Given the description of an element on the screen output the (x, y) to click on. 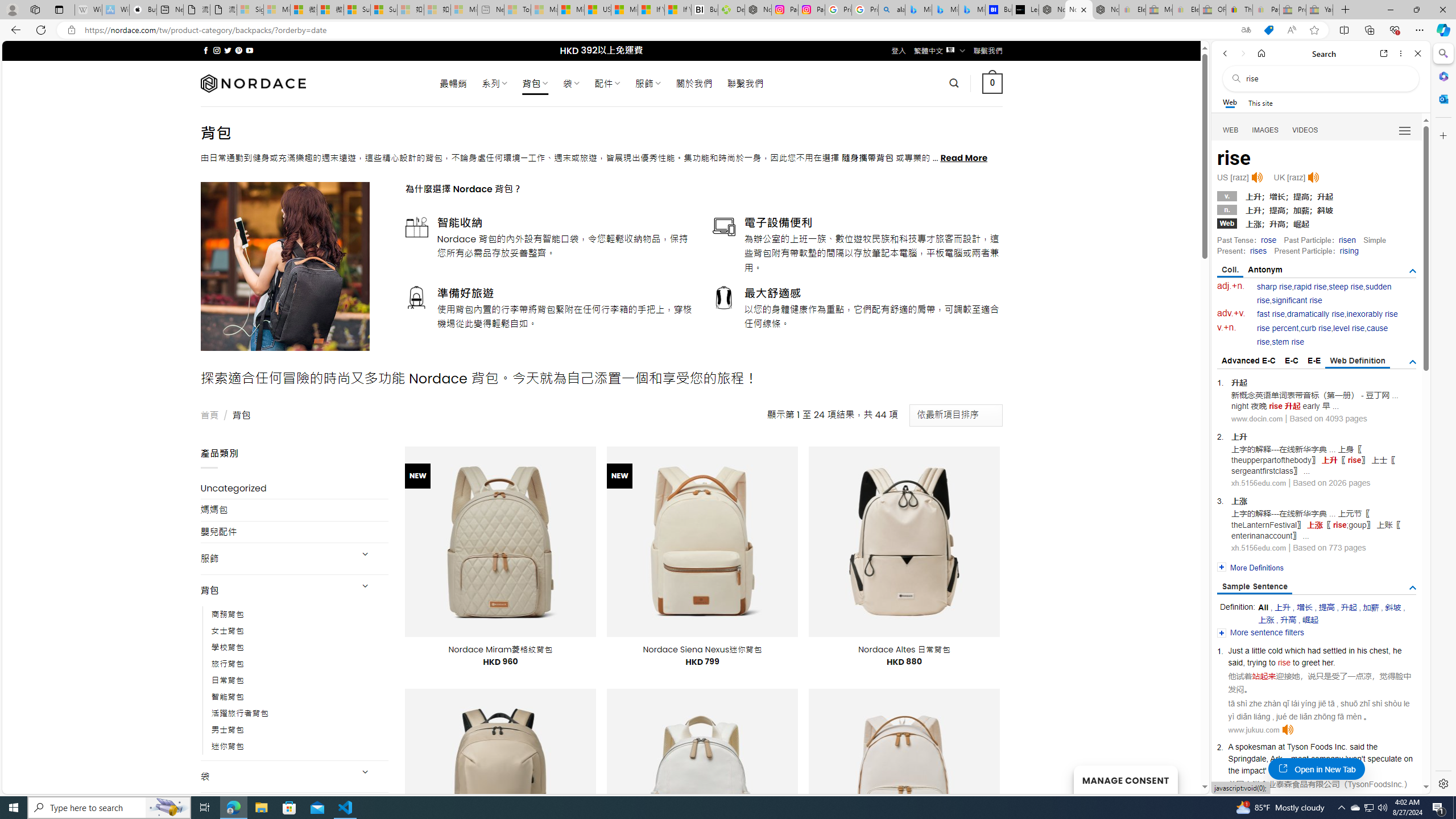
AutomationID: tgdef (1412, 362)
Coll. (1230, 270)
in (1351, 650)
